Given the description of an element on the screen output the (x, y) to click on. 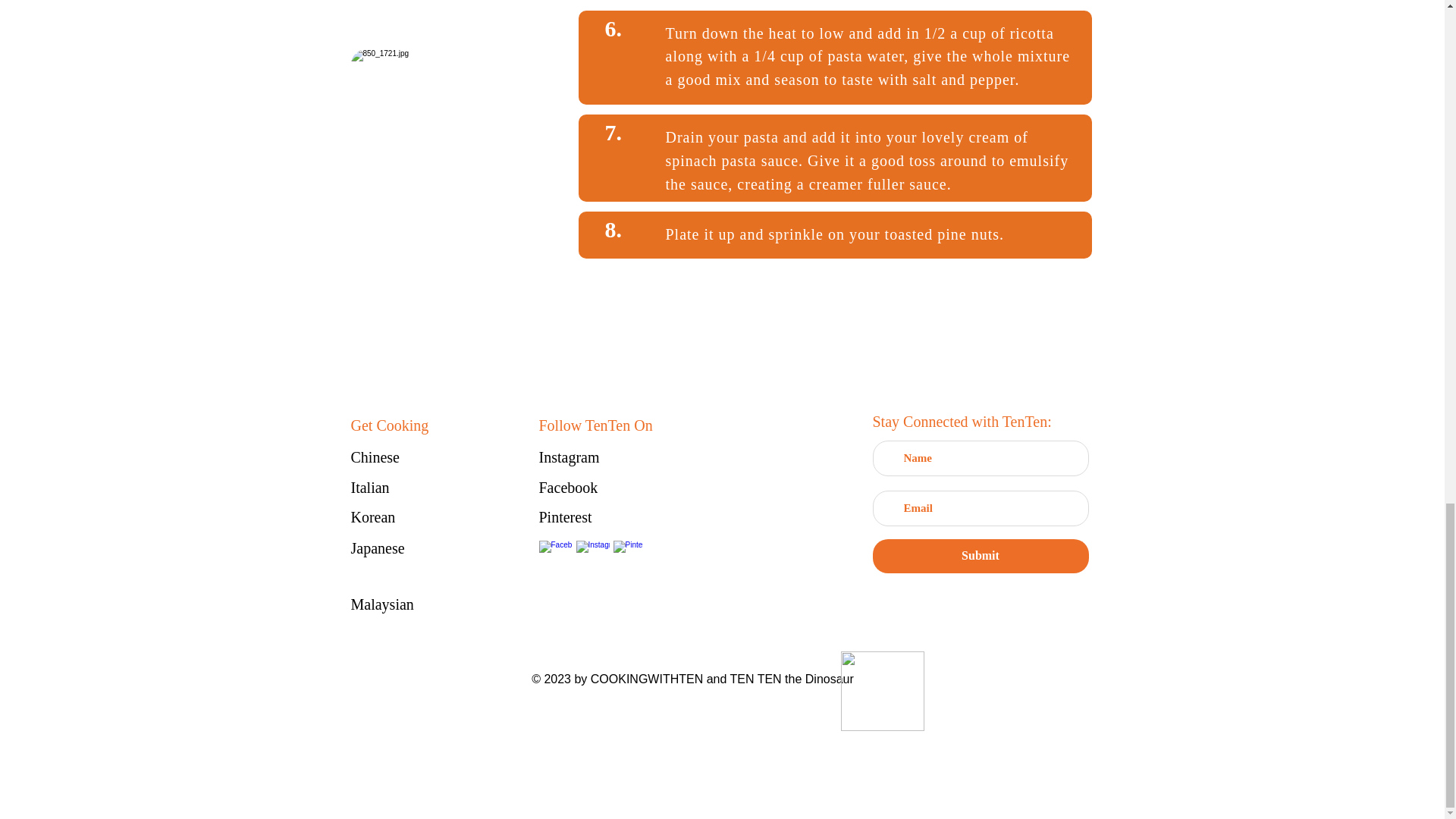
Submit (979, 555)
Blank Mouth open.png (881, 691)
Malaysian (403, 604)
Japanese (403, 547)
Chinese (403, 456)
Italian (403, 487)
Facebook (591, 487)
Instagram (591, 456)
Pinterest (591, 517)
Korean (403, 517)
